Given the description of an element on the screen output the (x, y) to click on. 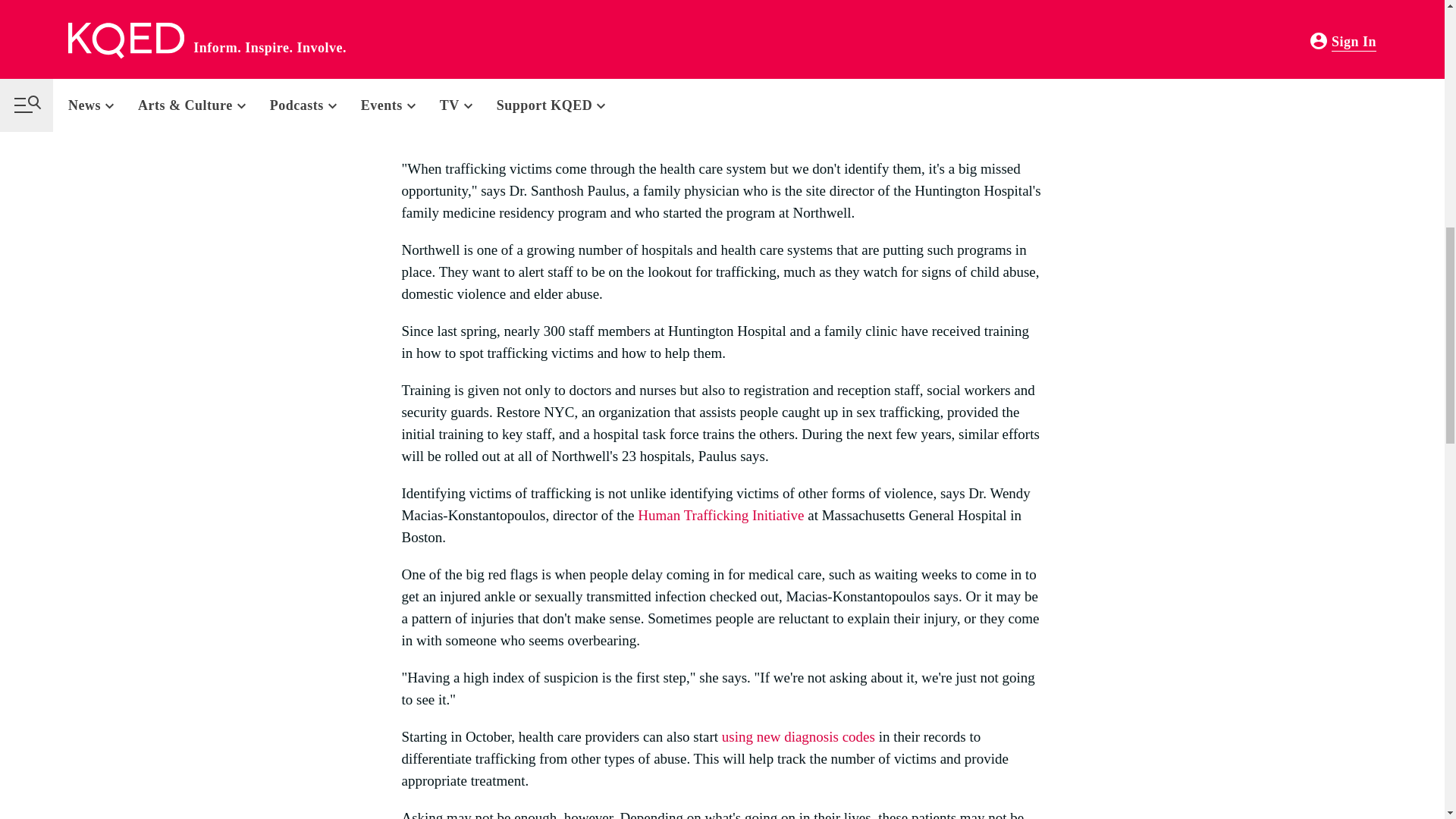
3rd party ad content (677, 108)
